Given the description of an element on the screen output the (x, y) to click on. 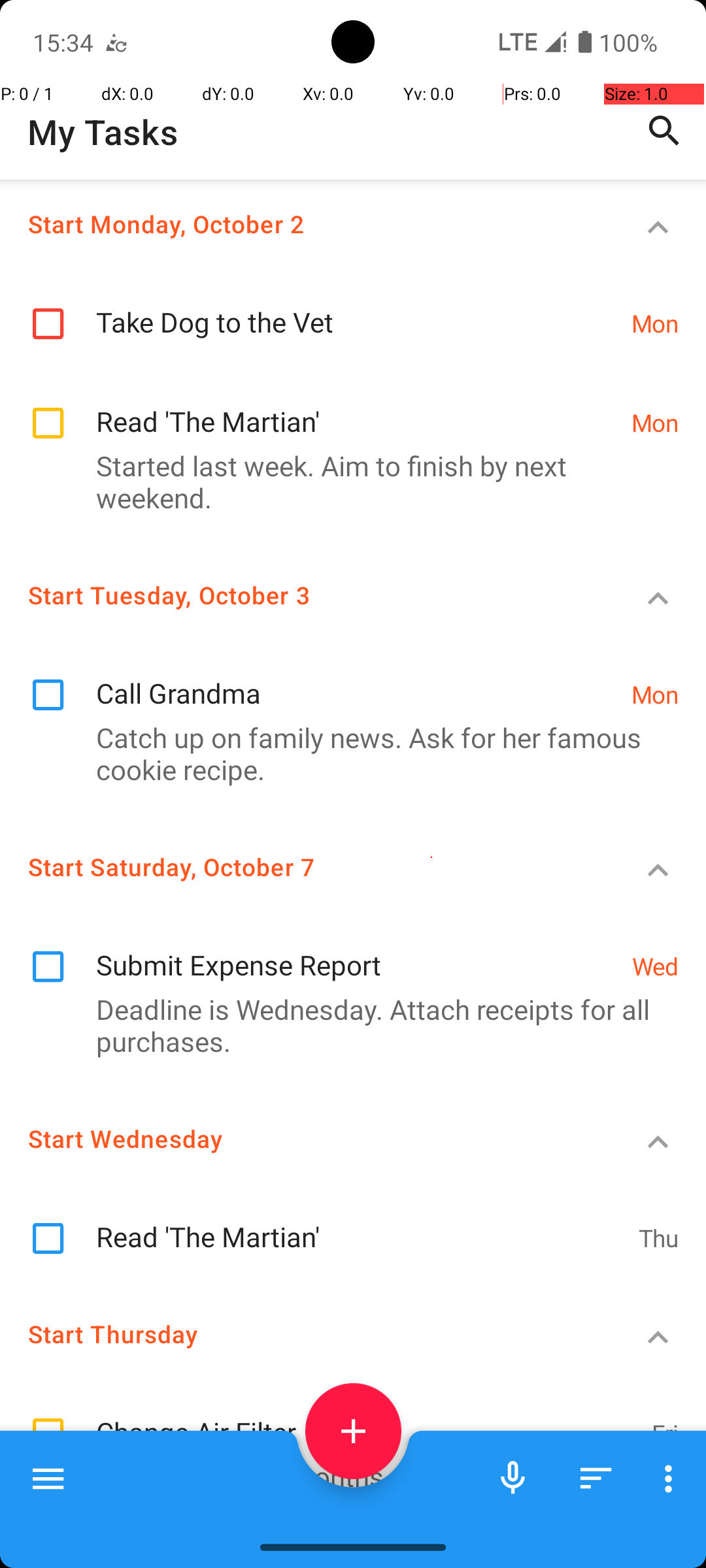
Start Monday, October 2 Element type: android.widget.TextView (304, 223)
Start Tuesday, October 3 Element type: android.widget.TextView (304, 594)
Start Saturday, October 7 Element type: android.widget.TextView (304, 866)
Start Wednesday Element type: android.widget.TextView (304, 1138)
Start Thursday Element type: android.widget.TextView (304, 1333)
Catch up on family news. Ask for her famous cookie recipe. Element type: android.widget.TextView (346, 752)
Deadline is Wednesday. Attach receipts for all purchases. Element type: android.widget.TextView (346, 1024)
